Given the description of an element on the screen output the (x, y) to click on. 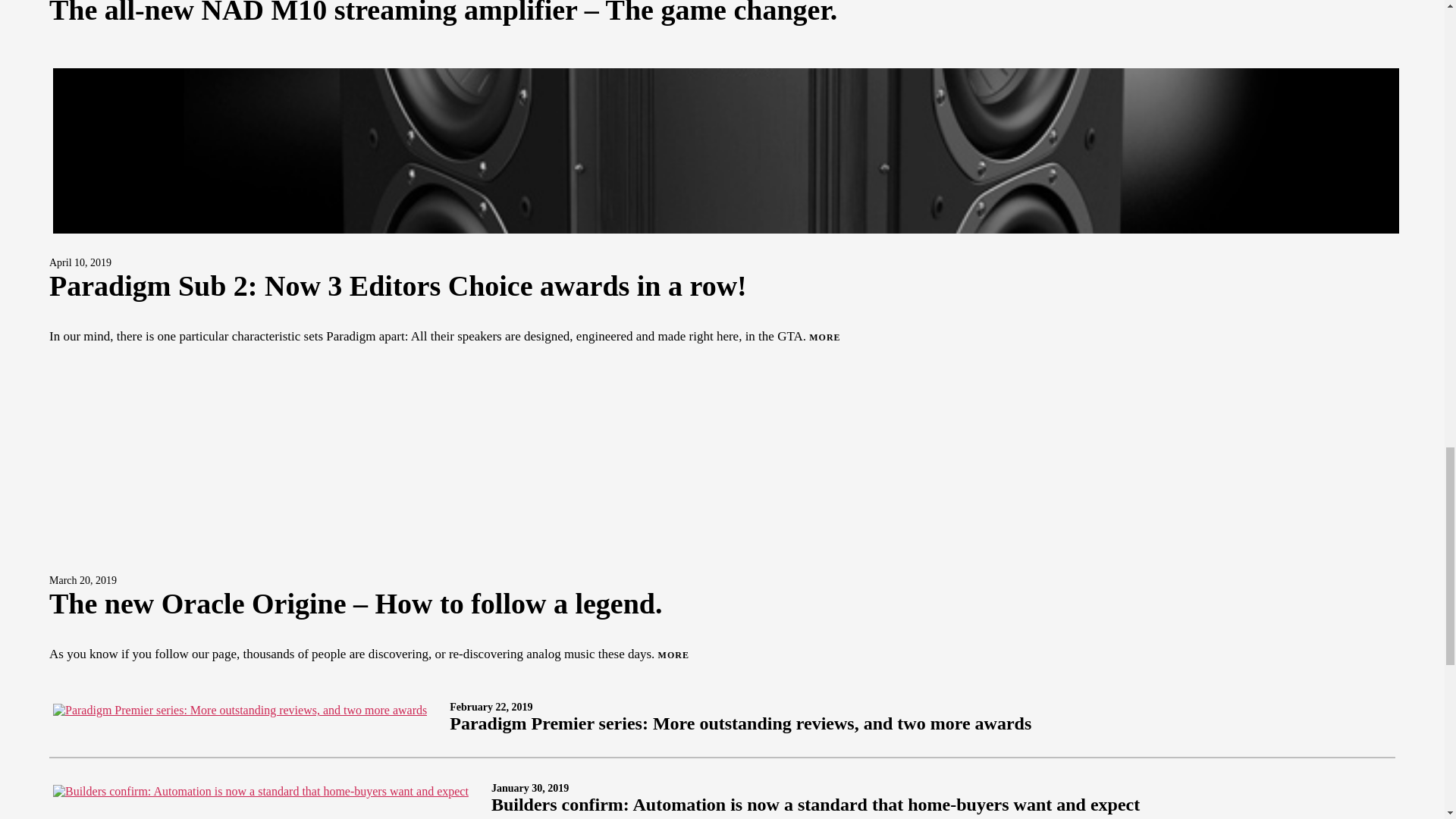
Paradigm Sub 2: Now 3 Editors Choice awards in a row! (397, 286)
MORE (673, 655)
MORE (824, 337)
